Given the description of an element on the screen output the (x, y) to click on. 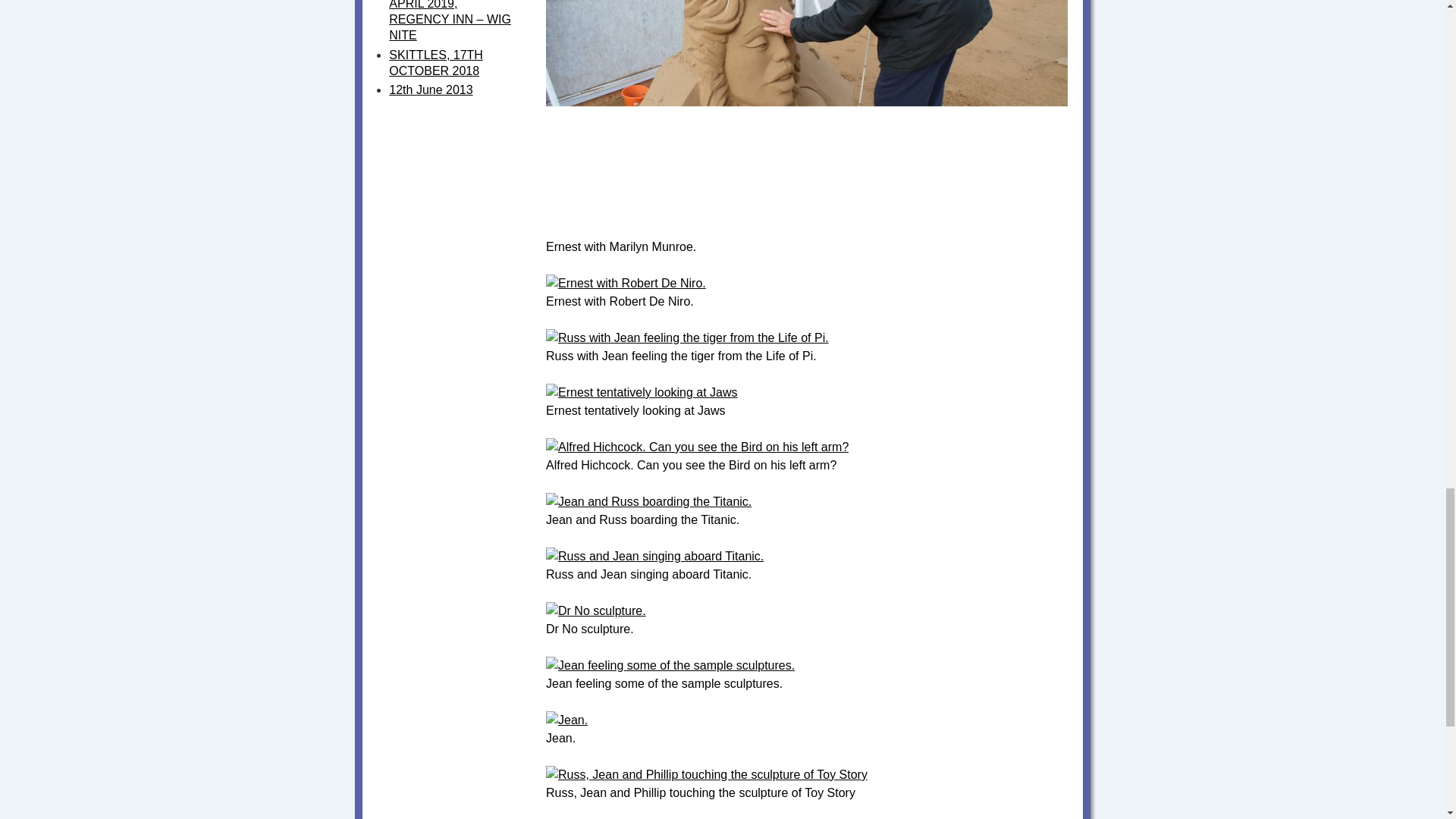
Russ with Jean feeling the tiger from the Life of Pi. (687, 337)
Ernest with Robert De Niro. (626, 282)
Ernest with Marilyn Munroe. (806, 233)
